Given the description of an element on the screen output the (x, y) to click on. 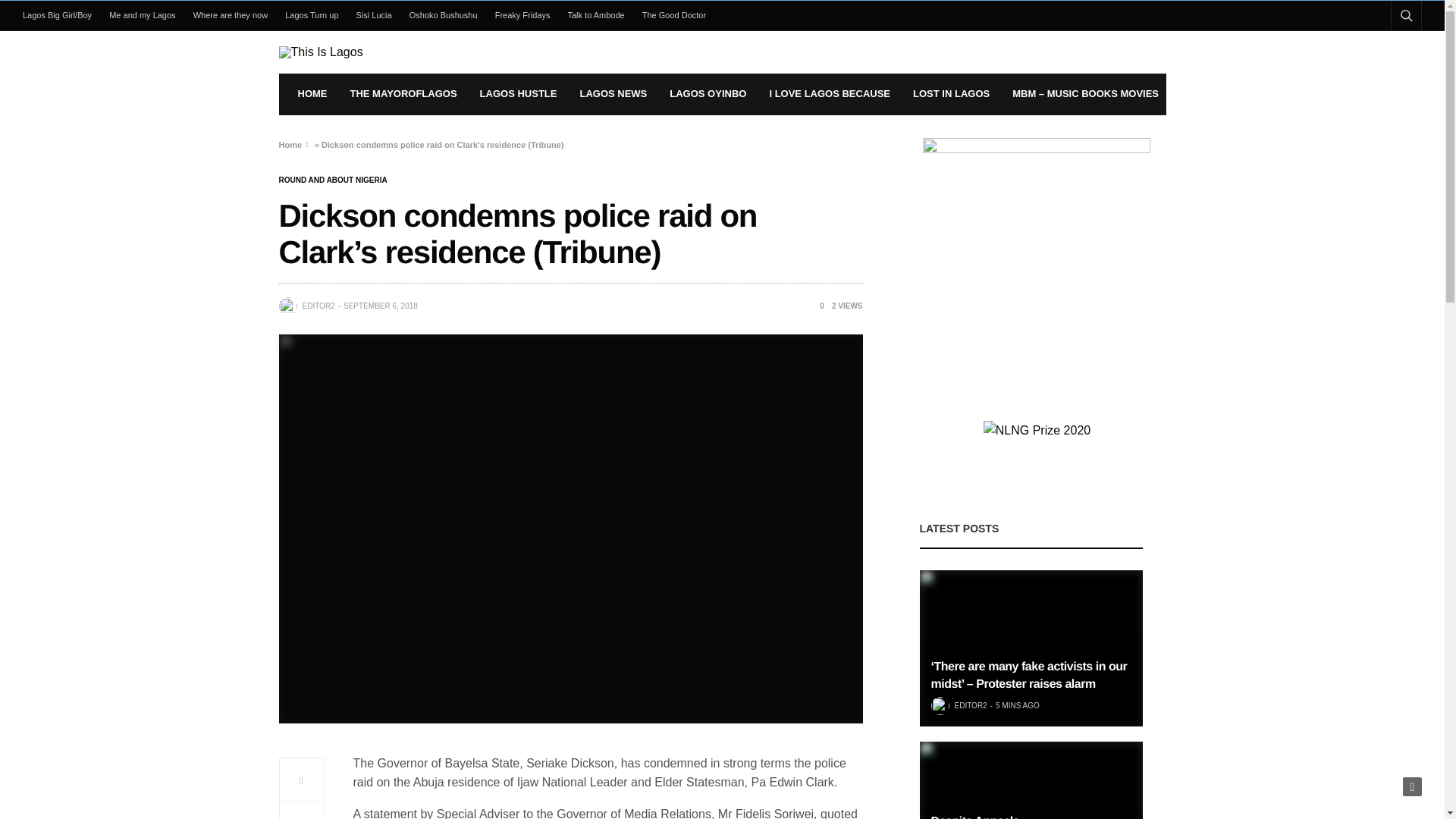
Oshoko Bushushu (442, 15)
Me and my Lagos (142, 15)
HOME (311, 94)
Round and about Nigeria (333, 180)
ROUND AND ABOUT NIGERIA (333, 180)
Posts by Editor2 (317, 306)
Where are they now (230, 15)
LAGOS OYINBO (707, 94)
The Good Doctor (673, 15)
LOST IN LAGOS (951, 94)
0 (816, 306)
Home (290, 144)
LAGOS NEWS (612, 94)
LAGOS HUSTLE (518, 94)
THE MAYOROFLAGOS (403, 94)
